Given the description of an element on the screen output the (x, y) to click on. 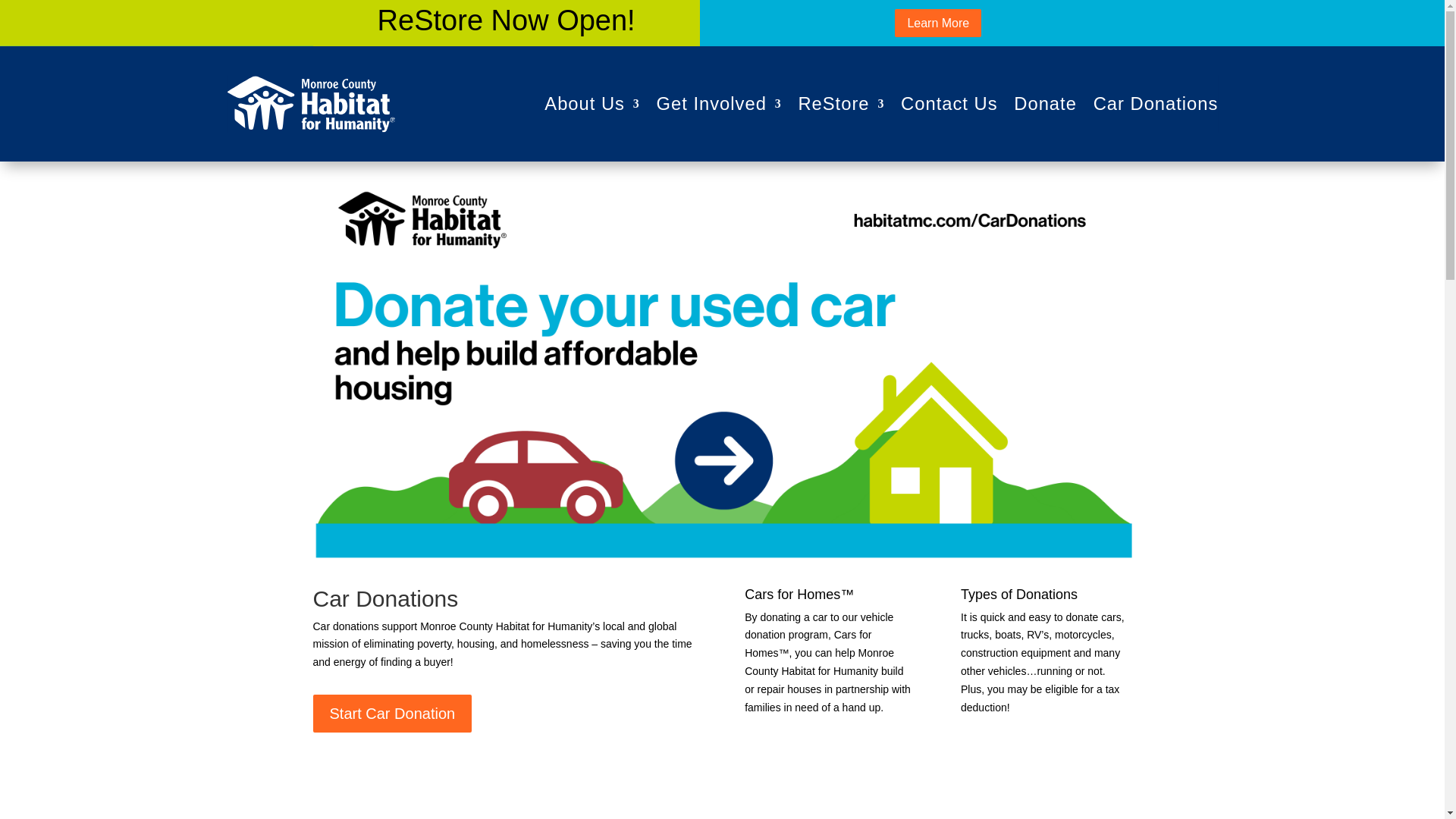
Car Donations (1155, 103)
ReStore (841, 103)
Contact Us (949, 103)
About Us (592, 103)
Donate (1045, 103)
Get Involved (719, 103)
Learn More (938, 22)
